Given the description of an element on the screen output the (x, y) to click on. 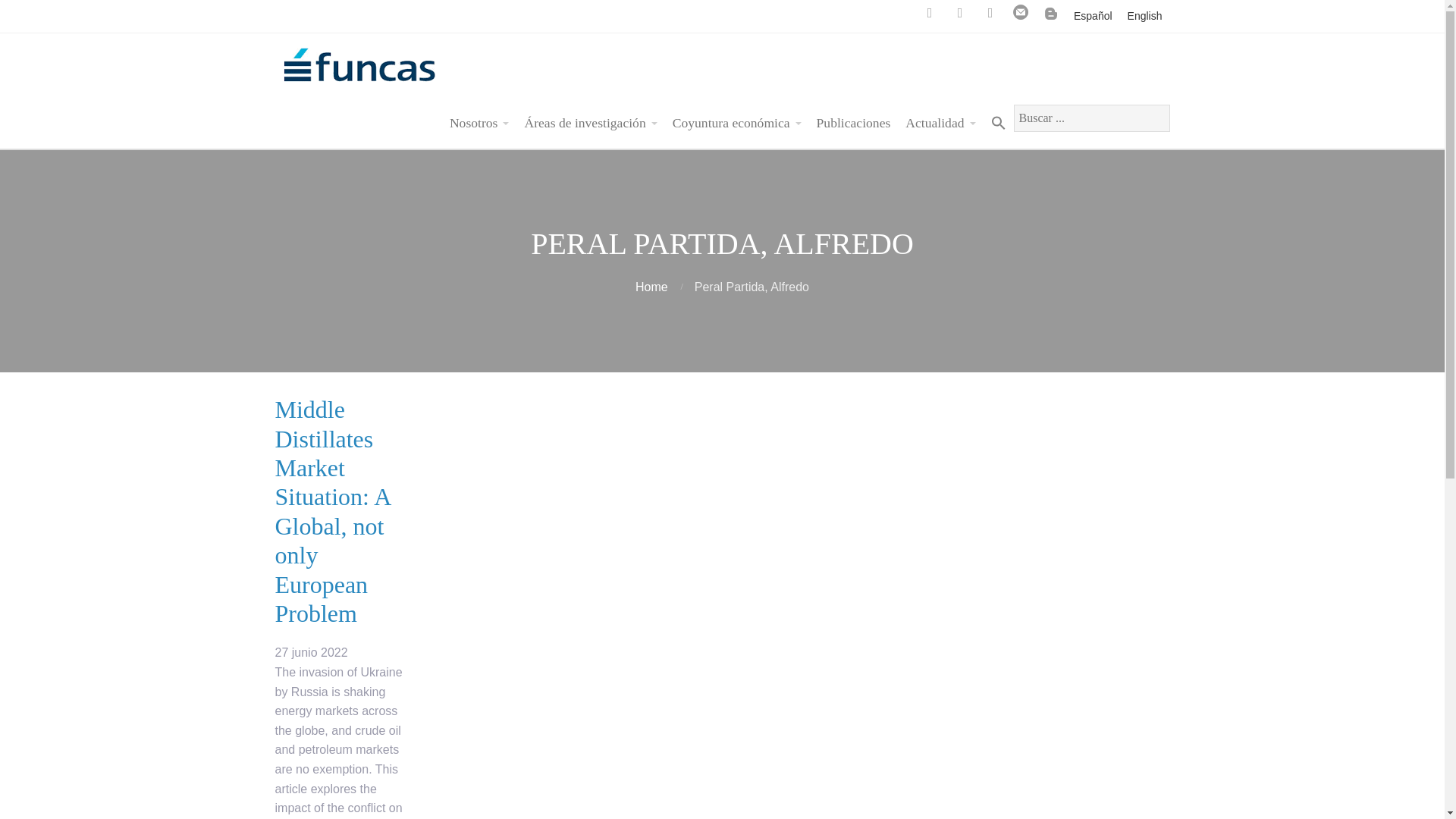
English (1144, 15)
YouTube (959, 12)
LinkedIn (990, 12)
Nosotros (479, 122)
Twitter (929, 12)
